Given the description of an element on the screen output the (x, y) to click on. 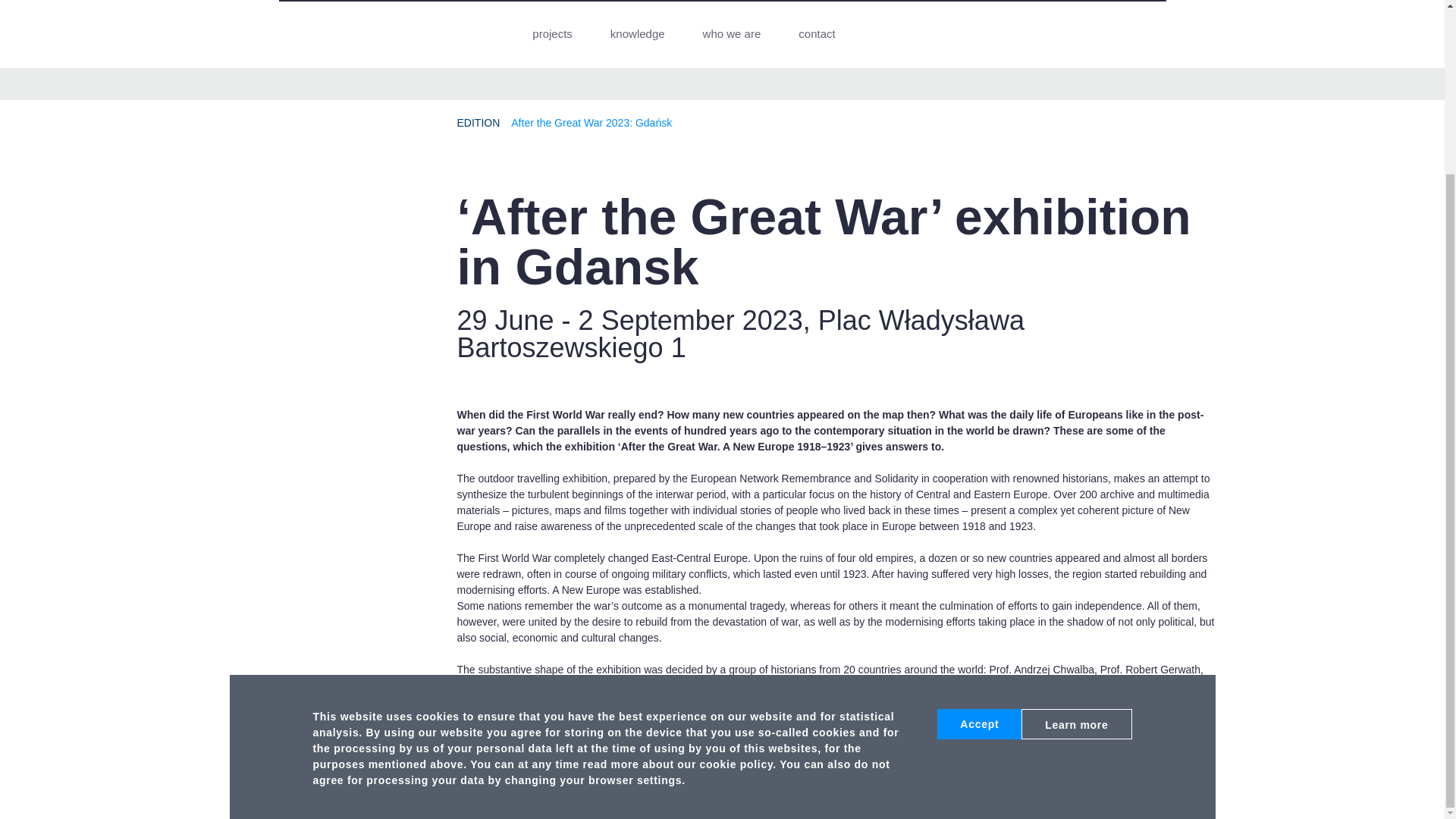
Learn more (1076, 512)
Accept (979, 512)
Gender Equality Plan (1083, 526)
Youth Protection Policy (1087, 446)
